Given the description of an element on the screen output the (x, y) to click on. 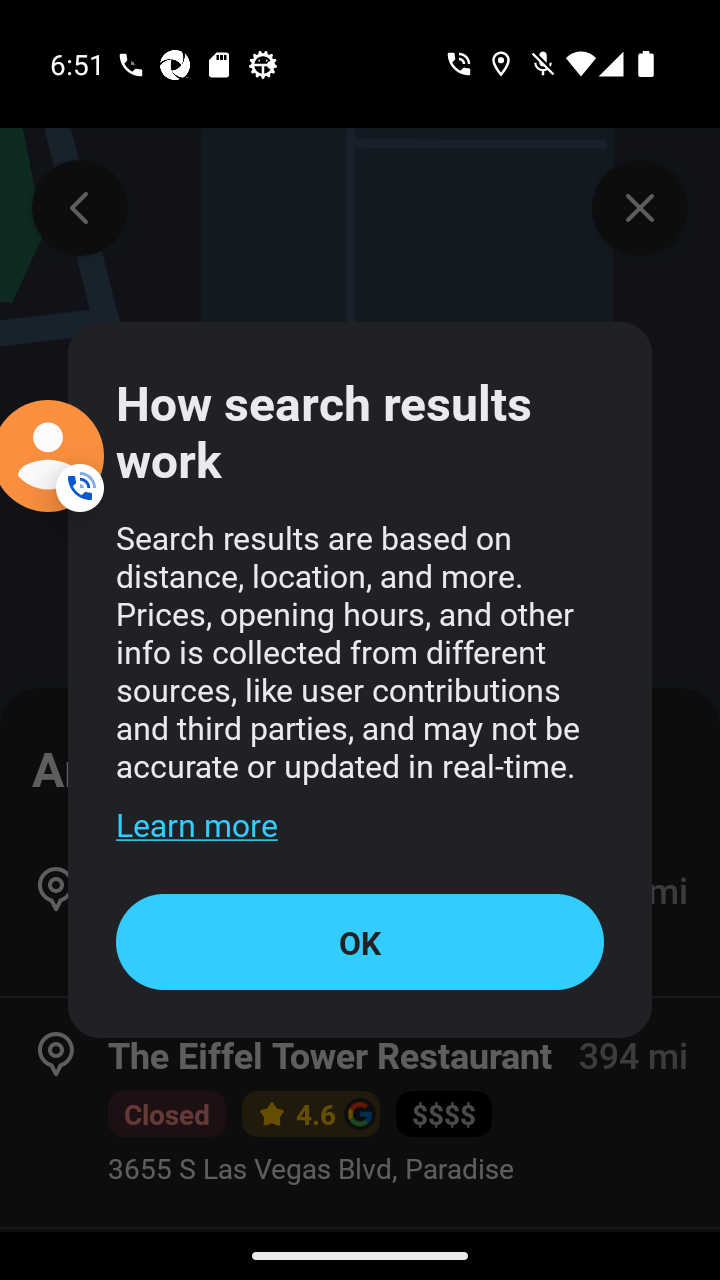
Learn more (196, 824)
OK (359, 941)
